Given the description of an element on the screen output the (x, y) to click on. 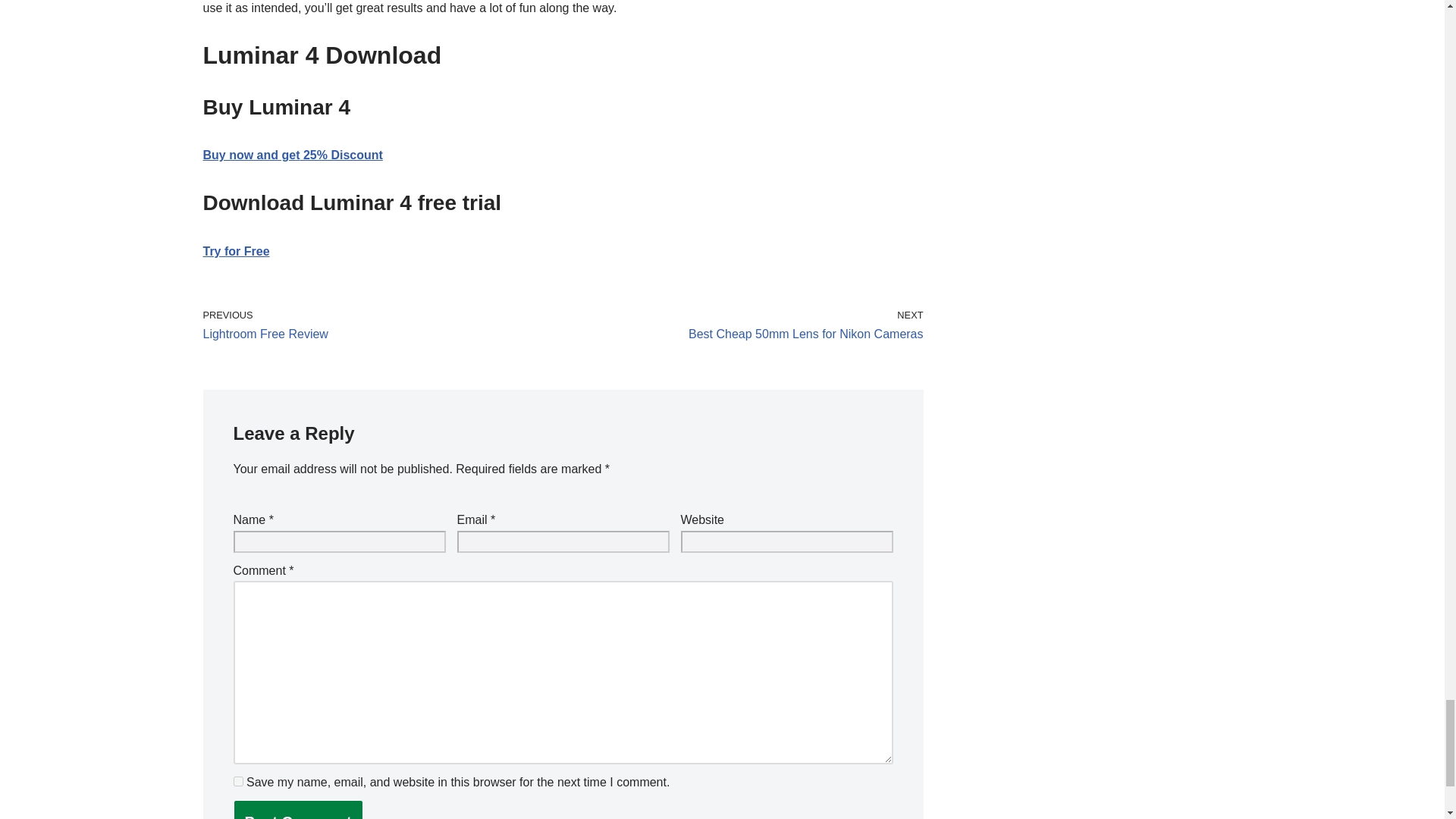
yes (237, 781)
Post Comment (297, 809)
Try for Free (379, 325)
Buy now and ge (236, 250)
